Given the description of an element on the screen output the (x, y) to click on. 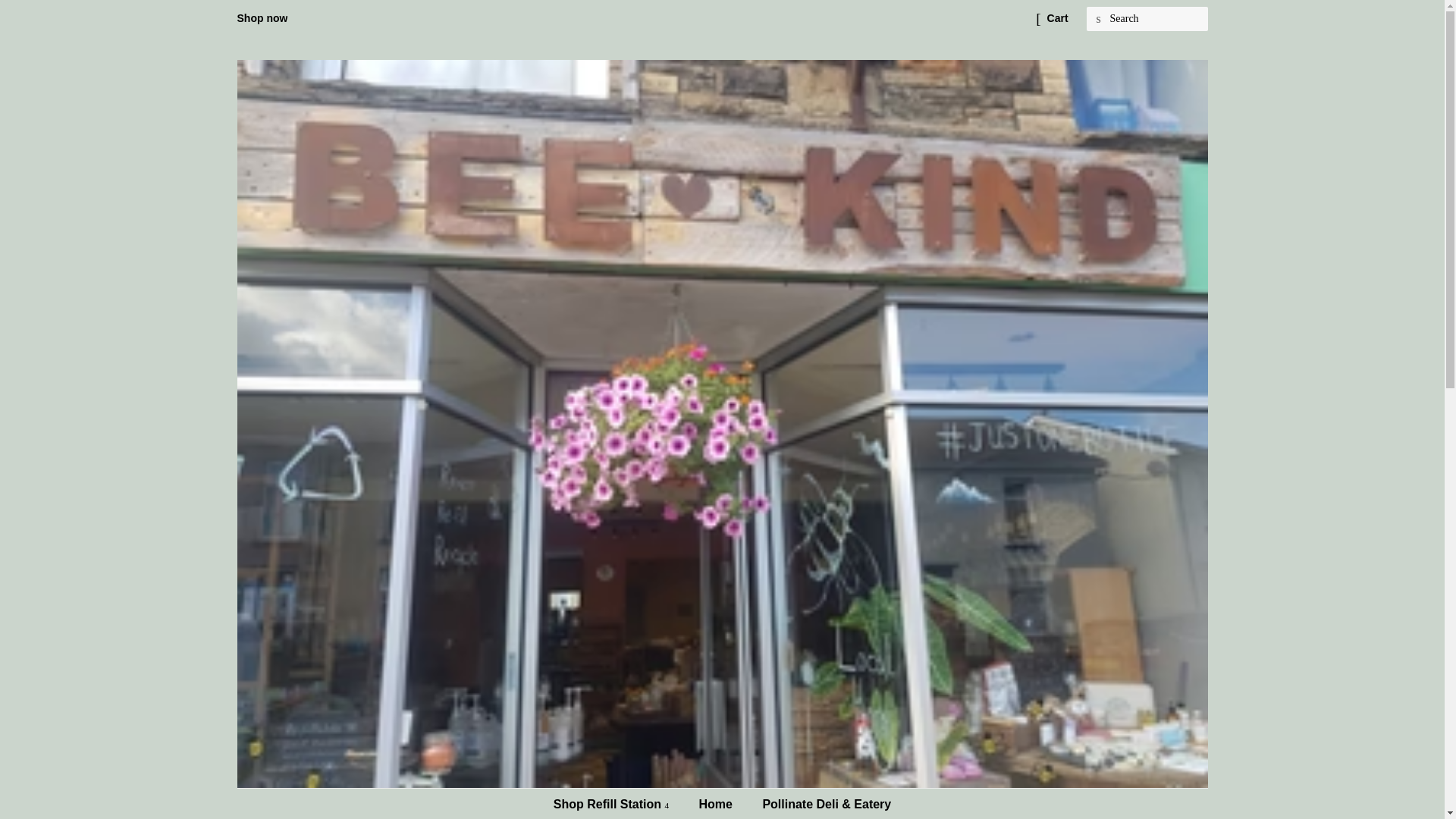
Search (1097, 18)
Shop now (260, 18)
Cart (1057, 18)
